Given the description of an element on the screen output the (x, y) to click on. 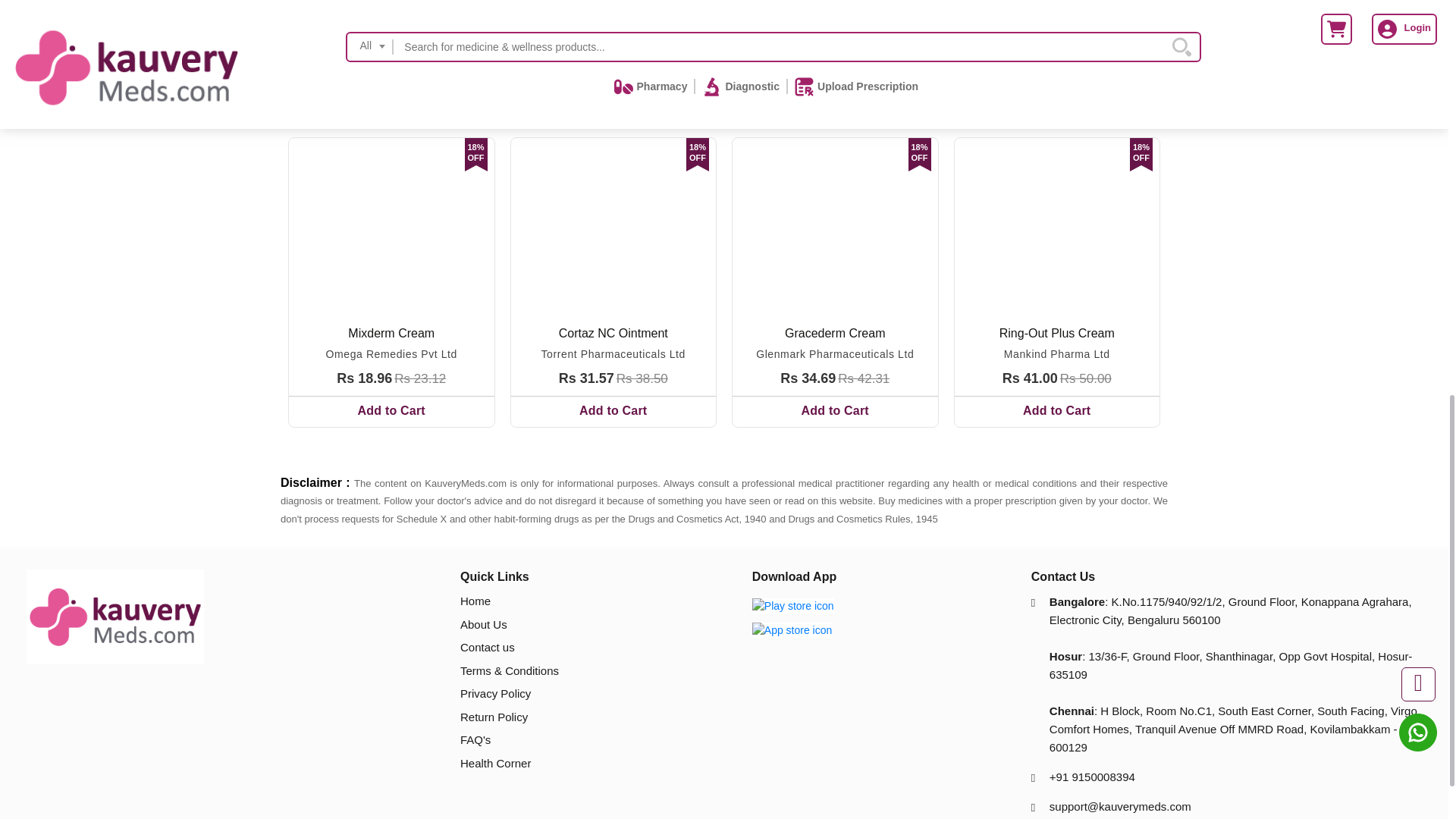
Add to Cart (391, 411)
Add to Cart (1055, 411)
Add to Cart (834, 411)
Add to Cart (613, 411)
